Given the description of an element on the screen output the (x, y) to click on. 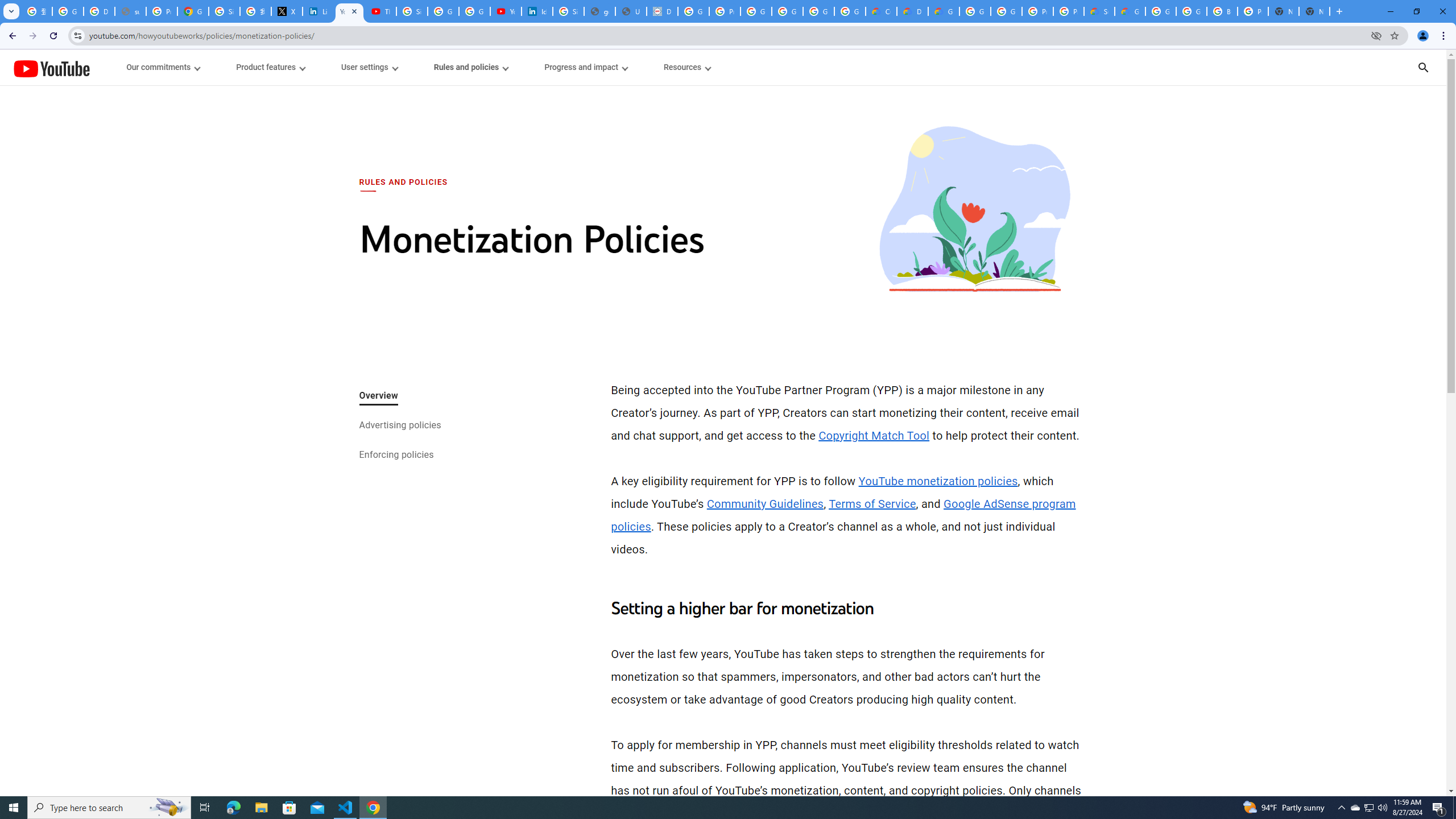
Privacy Help Center - Policies Help (161, 11)
Data Privacy Framework (662, 11)
Enforcing policies (395, 455)
LinkedIn Privacy Policy (318, 11)
JUMP TO CONTENT (118, 67)
